Given the description of an element on the screen output the (x, y) to click on. 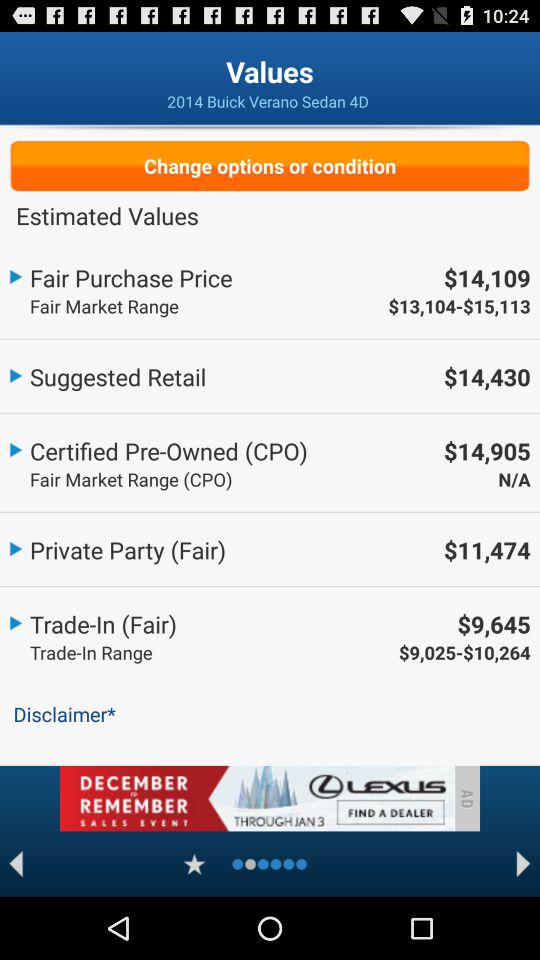
go forward (523, 864)
